Given the description of an element on the screen output the (x, y) to click on. 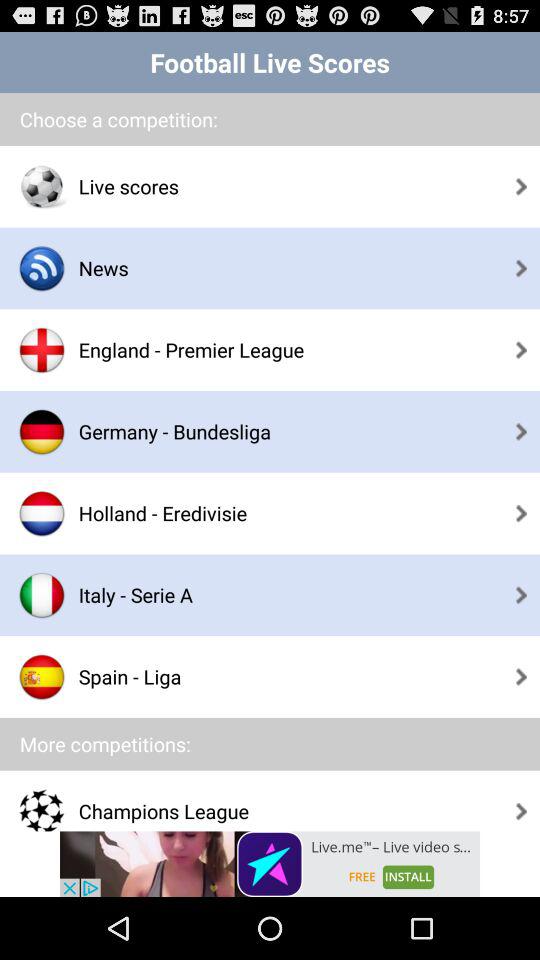
advertisement page (270, 864)
